Given the description of an element on the screen output the (x, y) to click on. 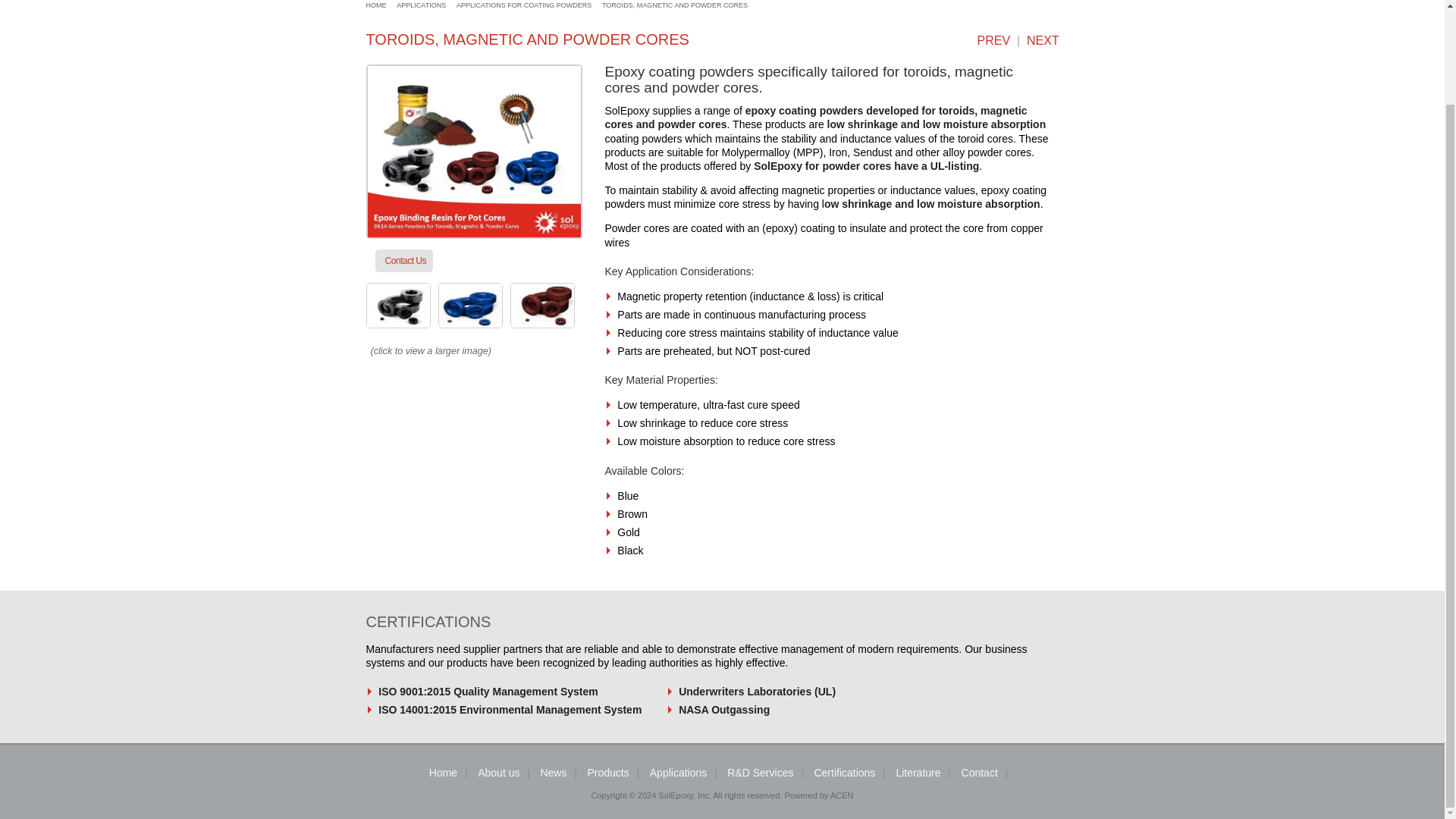
APPLICATIONS FOR COATING POWDERS (524, 5)
NEXT   (1045, 40)
  PREV (990, 40)
HOME (375, 5)
Email your comments or questions (405, 260)
Contact Us (405, 260)
APPLICATIONS (420, 5)
